Given the description of an element on the screen output the (x, y) to click on. 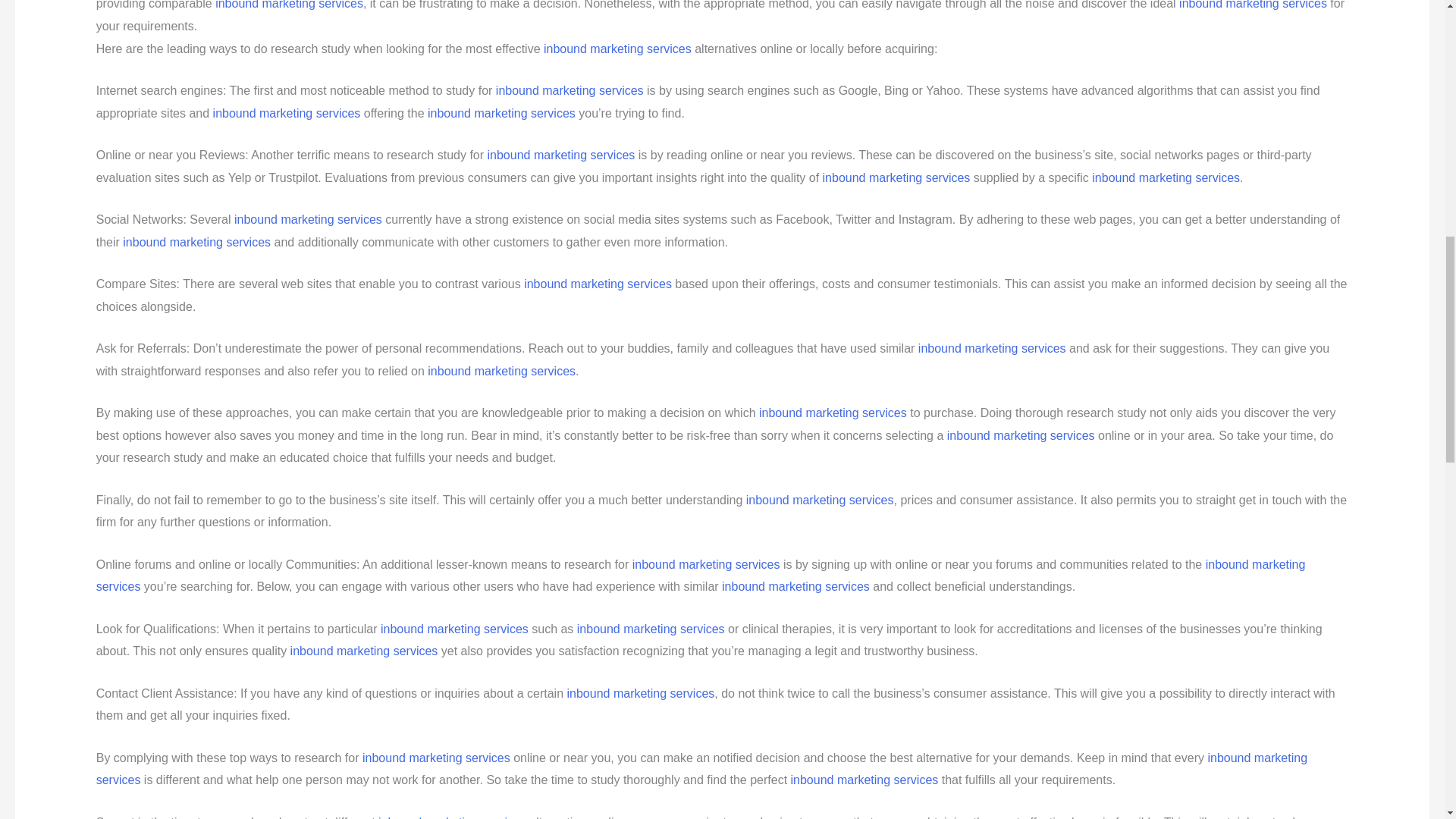
inbound marketing services (896, 177)
inbound marketing services (569, 90)
inbound marketing services (617, 48)
inbound marketing services (560, 154)
inbound marketing services (1252, 4)
inbound marketing services (597, 283)
inbound marketing services (991, 348)
inbound marketing services (196, 241)
inbound marketing services (1166, 177)
inbound marketing services (286, 113)
inbound marketing services (288, 4)
inbound marketing services (501, 113)
inbound marketing services (307, 219)
